Given the description of an element on the screen output the (x, y) to click on. 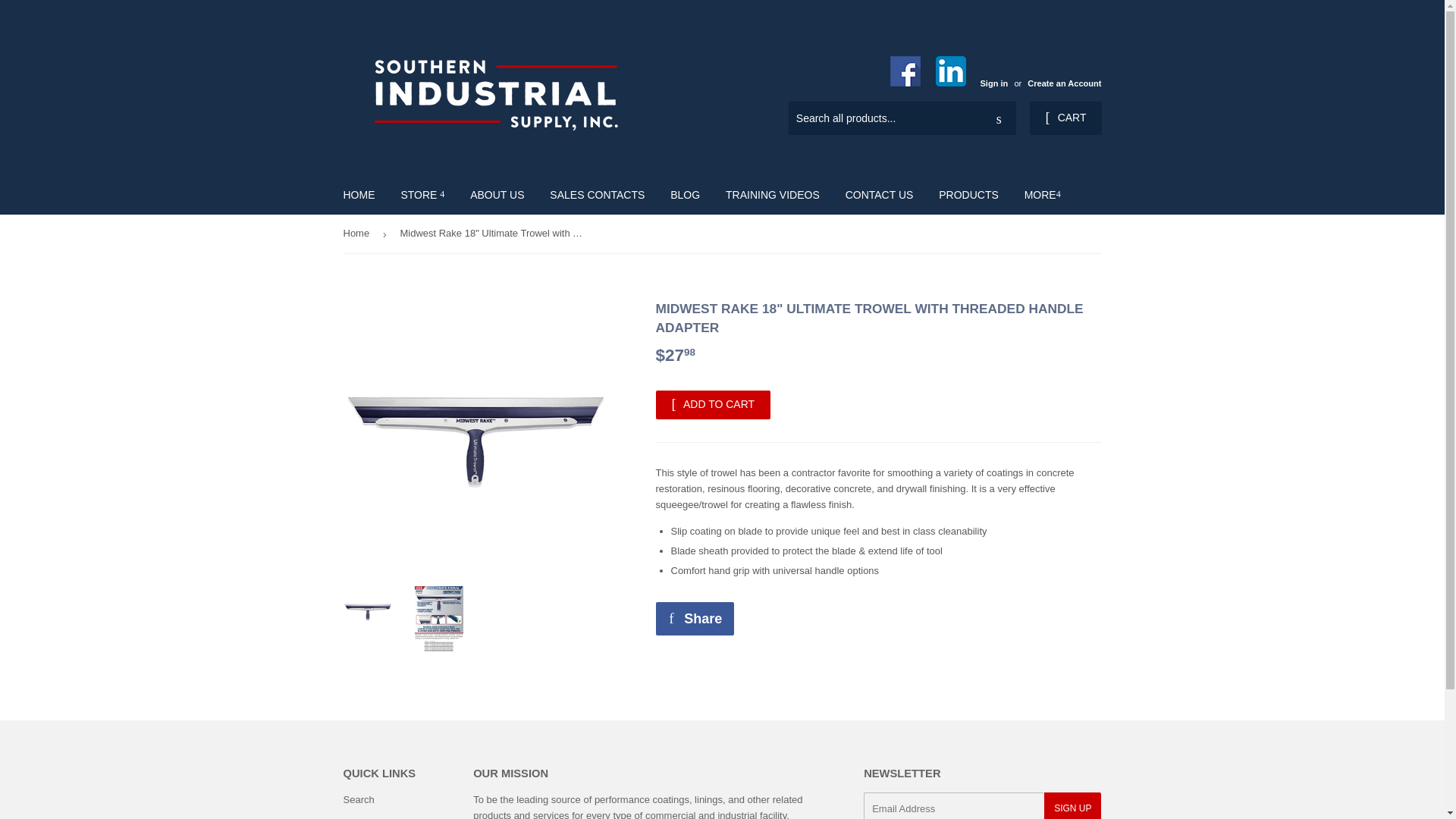
CART (1064, 118)
ABOUT US (496, 194)
Create an Account (1063, 82)
SALES CONTACTS (597, 194)
CONTACT US (879, 194)
STORE (421, 194)
HOME (359, 194)
Sign in (993, 82)
TRAINING VIDEOS (772, 194)
Search (998, 119)
Share on Facebook (694, 618)
PRODUCTS (968, 194)
BLOG (685, 194)
MORE (1042, 194)
